Given the description of an element on the screen output the (x, y) to click on. 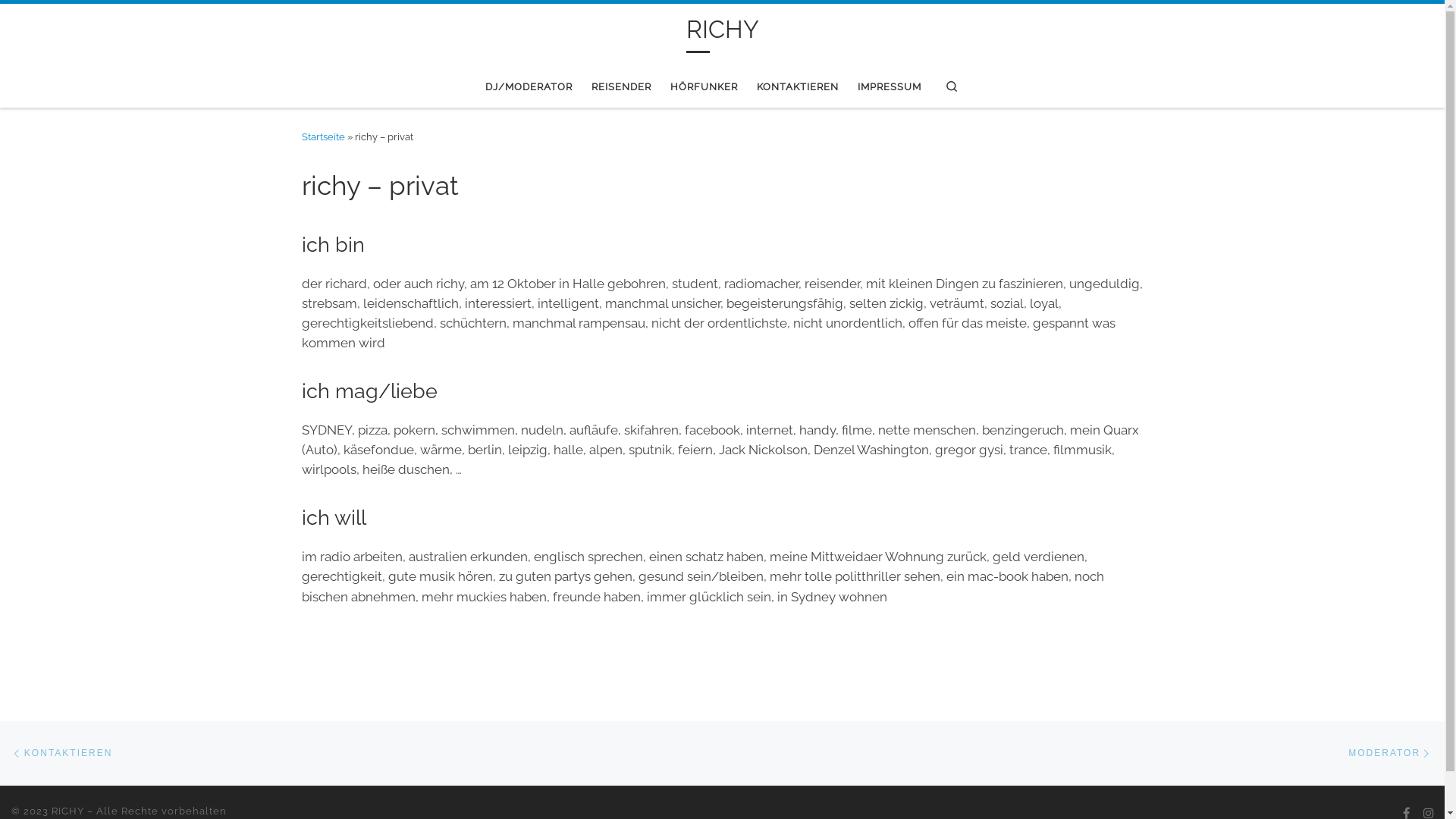
Zum Inhalt springen Element type: text (70, 20)
DJ/MODERATOR Element type: text (528, 86)
RICHY Element type: text (721, 32)
RICHY Element type: text (67, 810)
Search Element type: text (951, 85)
IMPRESSUM Element type: text (889, 86)
MODERATOR Element type: text (1390, 752)
KONTAKTIEREN Element type: text (798, 86)
REISENDER Element type: text (621, 86)
KONTAKTIEREN Element type: text (61, 752)
Startseite Element type: text (323, 136)
